Given the description of an element on the screen output the (x, y) to click on. 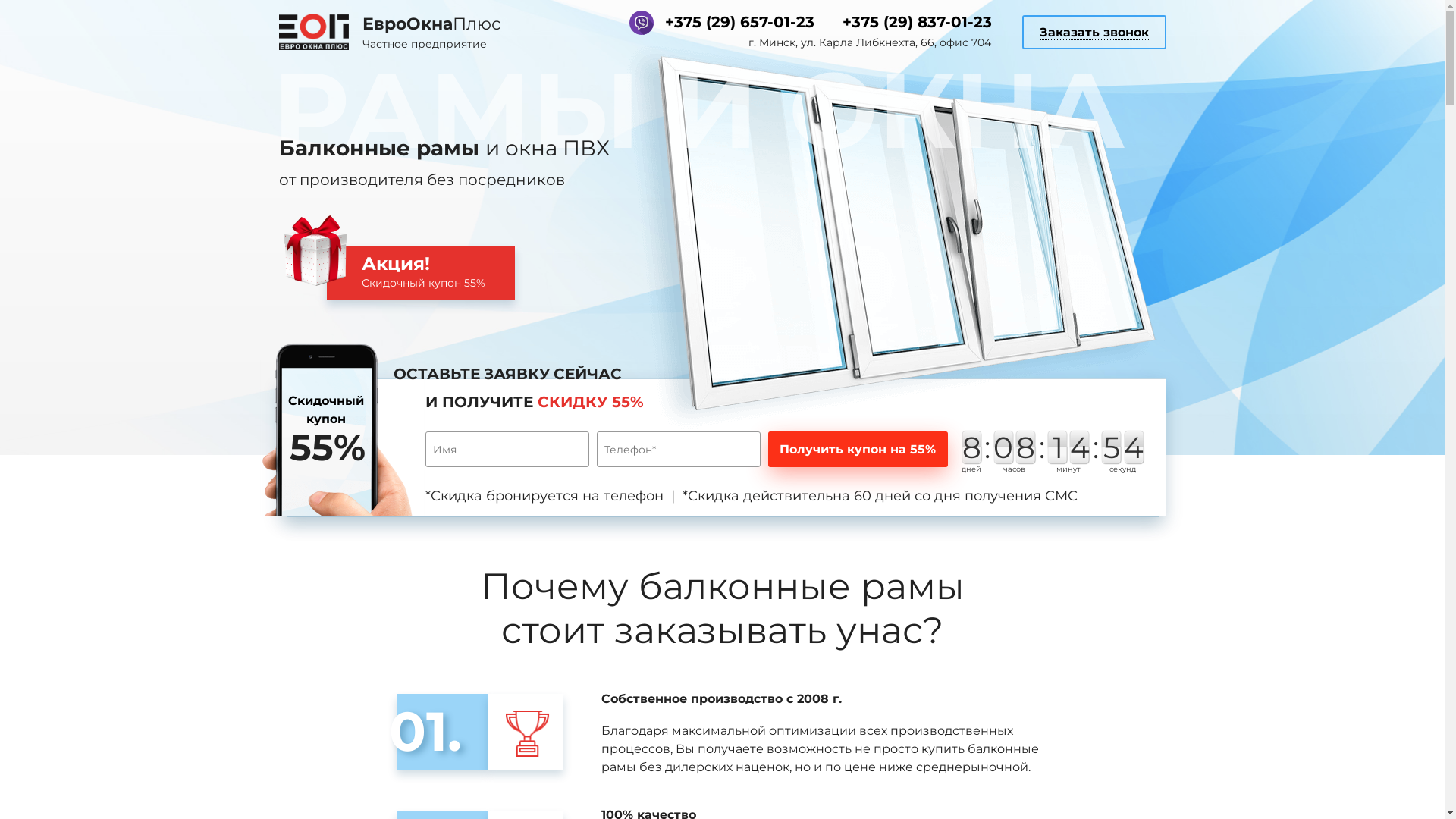
+375 (29) 657-01-23 Element type: text (740, 22)
+375 (29) 837-01-23 Element type: text (917, 22)
